Given the description of an element on the screen output the (x, y) to click on. 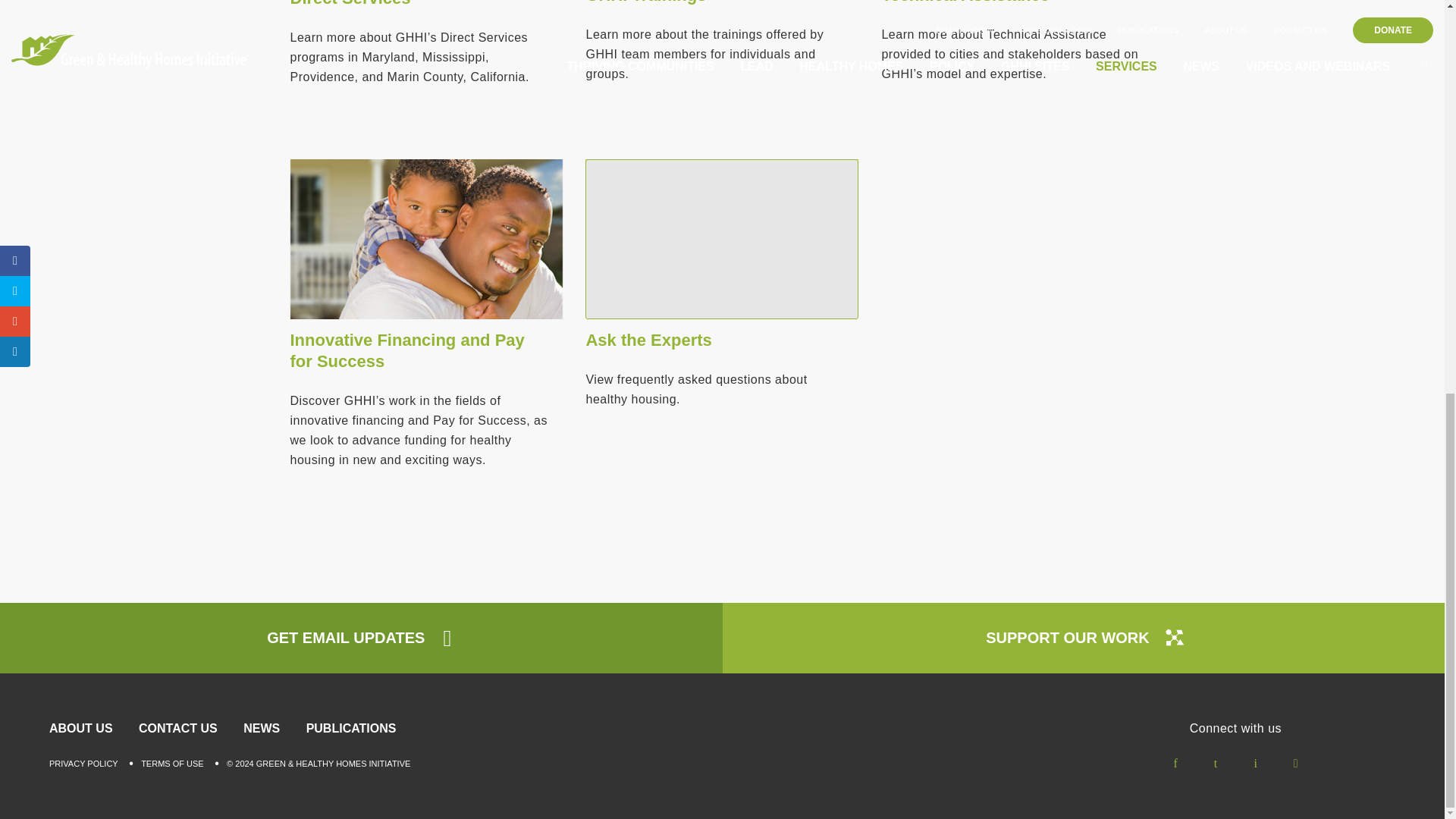
LinkedIn (1255, 763)
YouTube (1294, 763)
Twitter (1214, 763)
Facebook (1175, 763)
